Given the description of an element on the screen output the (x, y) to click on. 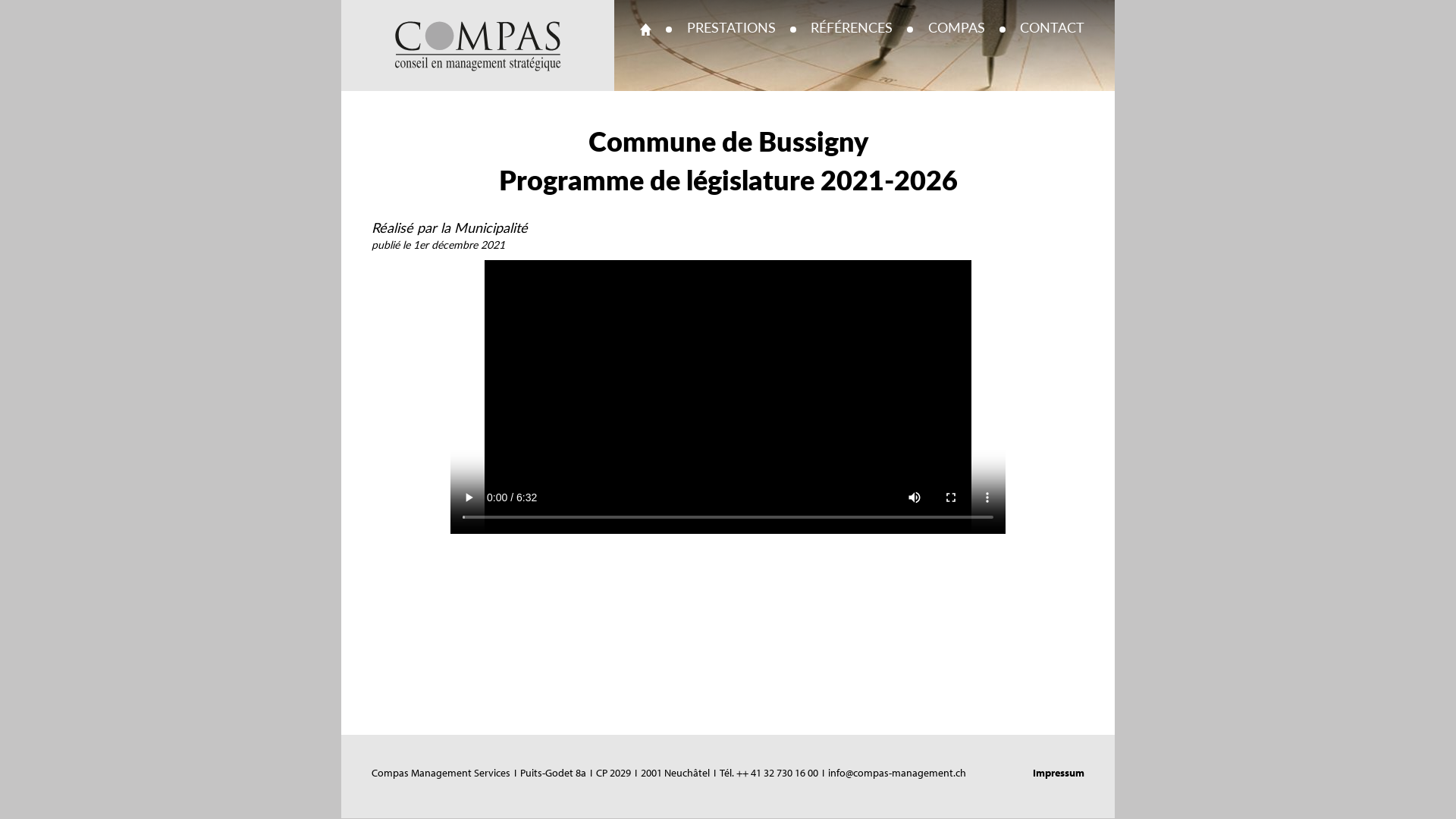
COMPAS Element type: text (956, 29)
info@compas-management.ch Element type: text (897, 772)
CONTACT Element type: text (1051, 29)
ACCUEIL Element type: text (645, 29)
Impressum Element type: text (1058, 772)
PRESTATIONS Element type: text (731, 29)
